Given the description of an element on the screen output the (x, y) to click on. 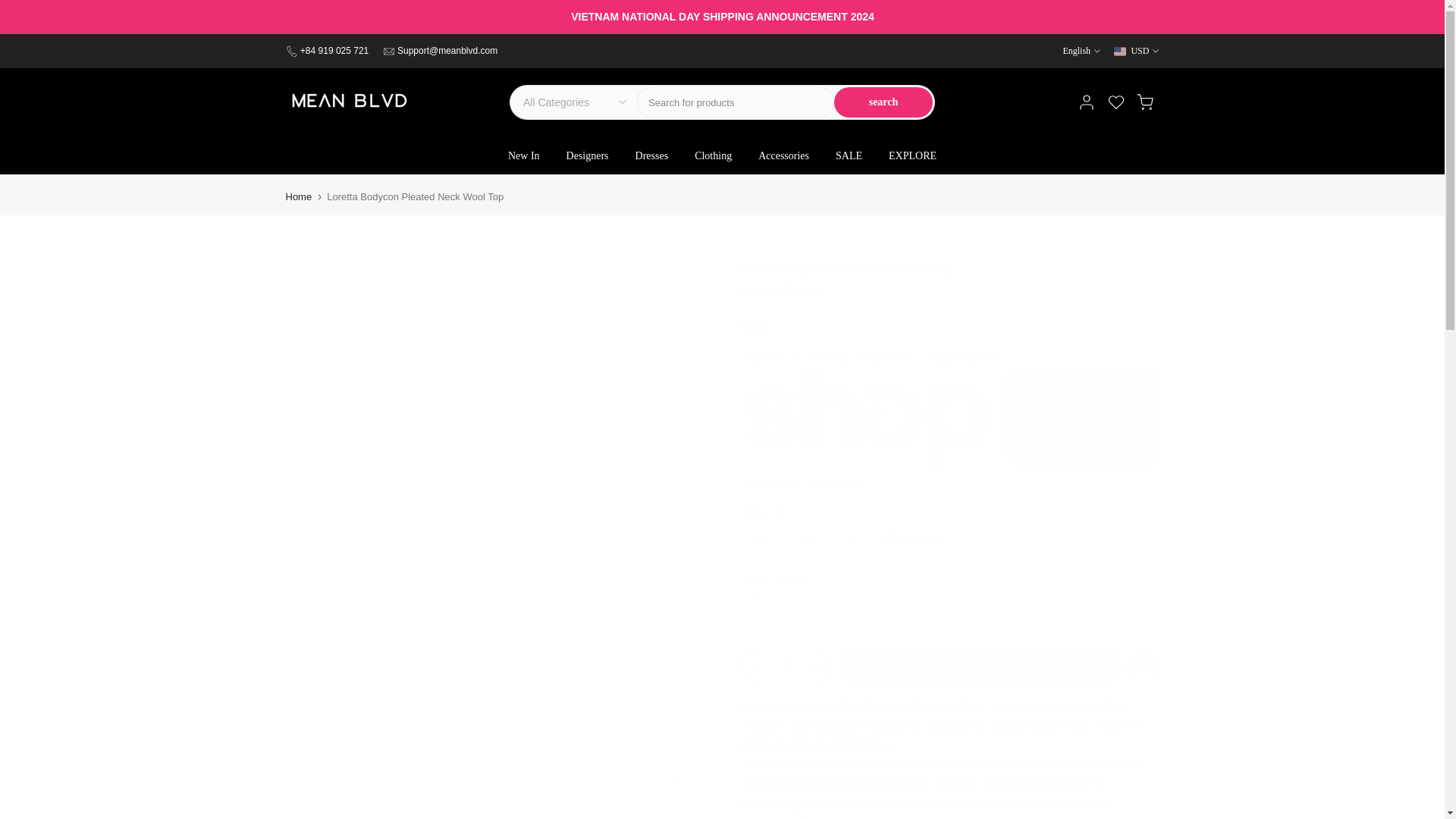
Home (298, 196)
Designers (587, 156)
SALE (849, 156)
EXPLORE (913, 156)
Skip to content (10, 7)
English (1081, 50)
search (883, 101)
